Given the description of an element on the screen output the (x, y) to click on. 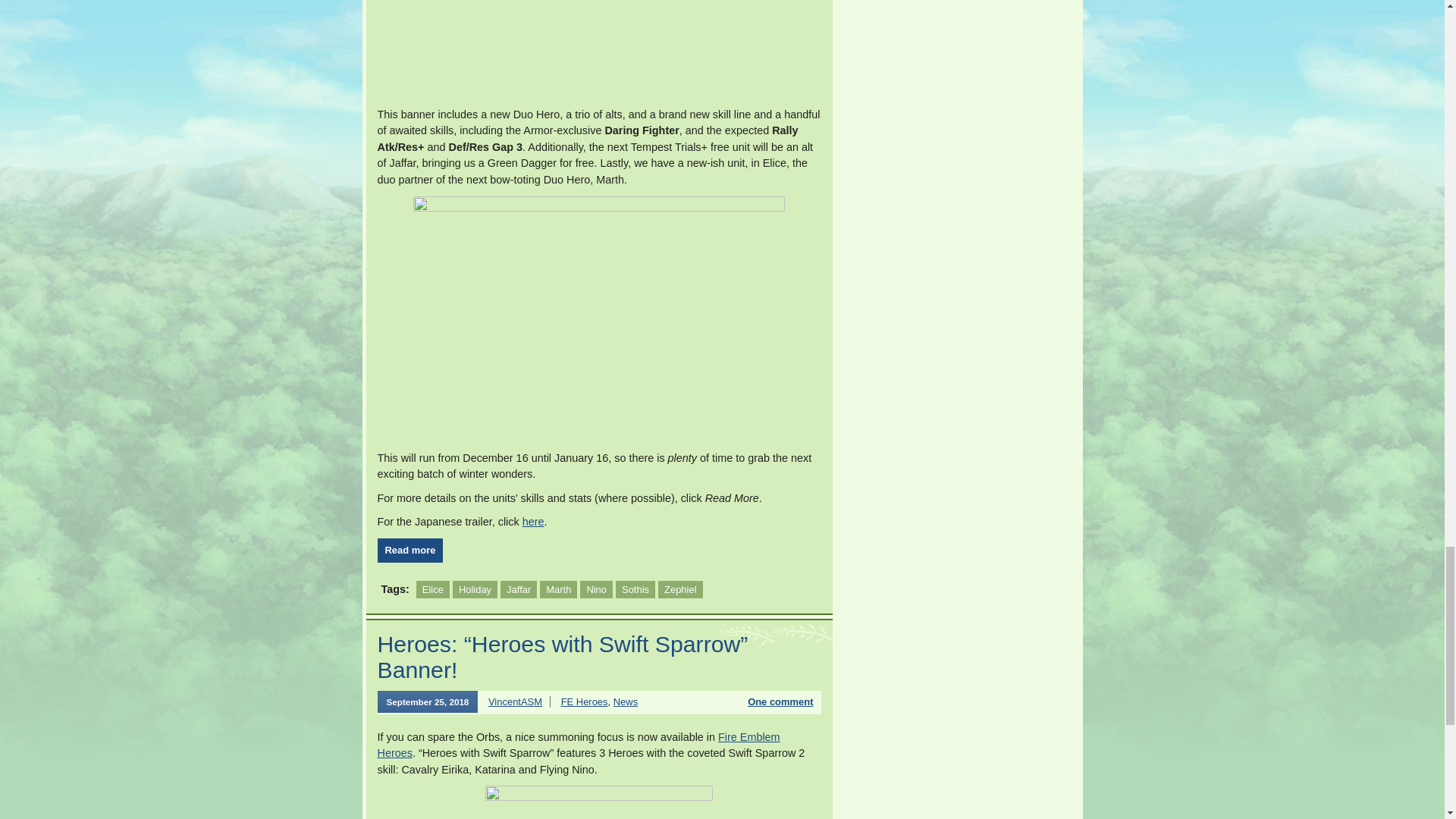
Posts by VincentASM (514, 701)
